Given the description of an element on the screen output the (x, y) to click on. 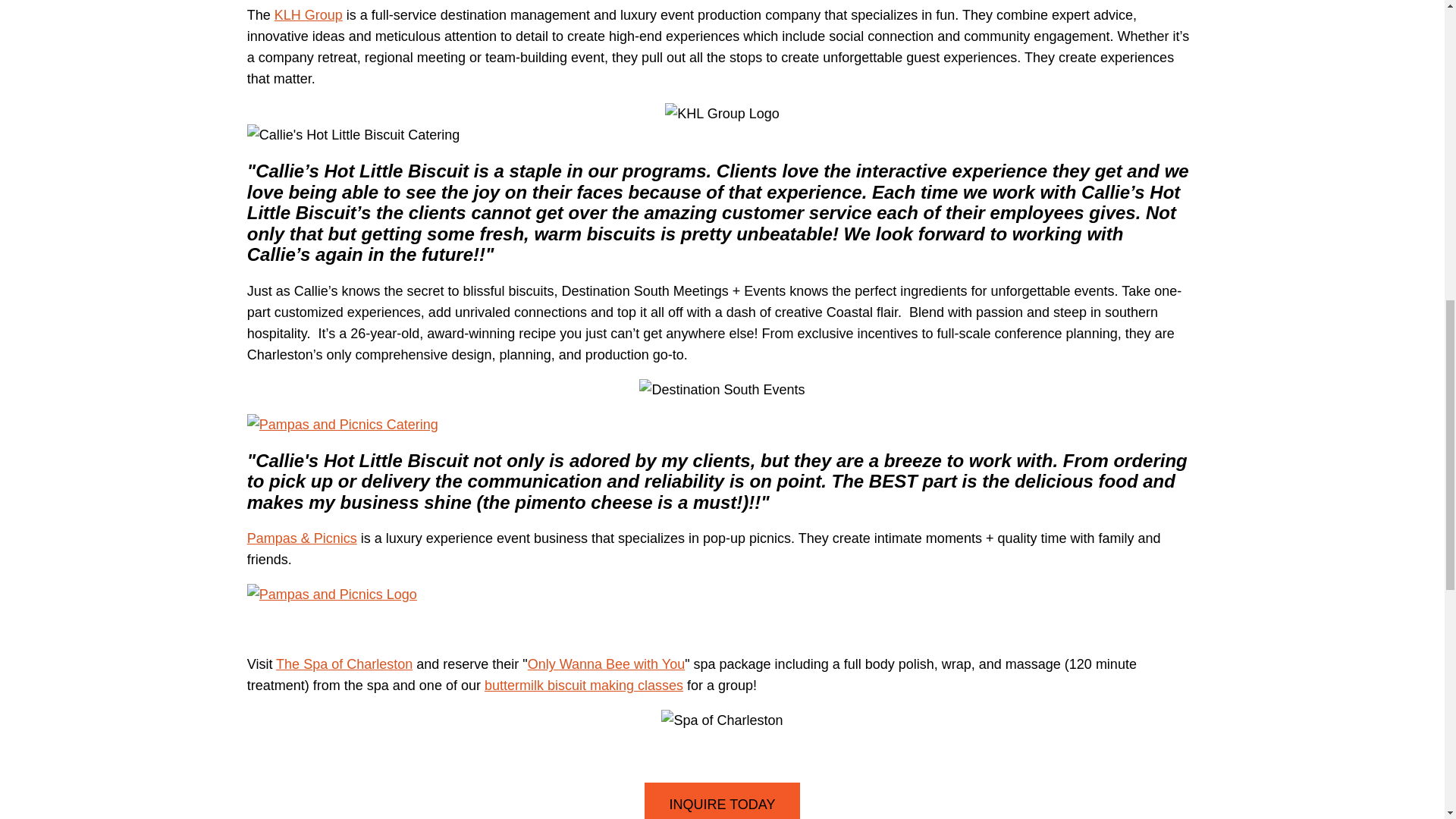
The Spa of Charleston (344, 663)
Classes (583, 685)
Pampas and Picnics (722, 594)
Pampas and Picnics (722, 424)
Pampas and Picnics (301, 538)
Spa of Charleston (605, 663)
KLH Group (308, 14)
